Given the description of an element on the screen output the (x, y) to click on. 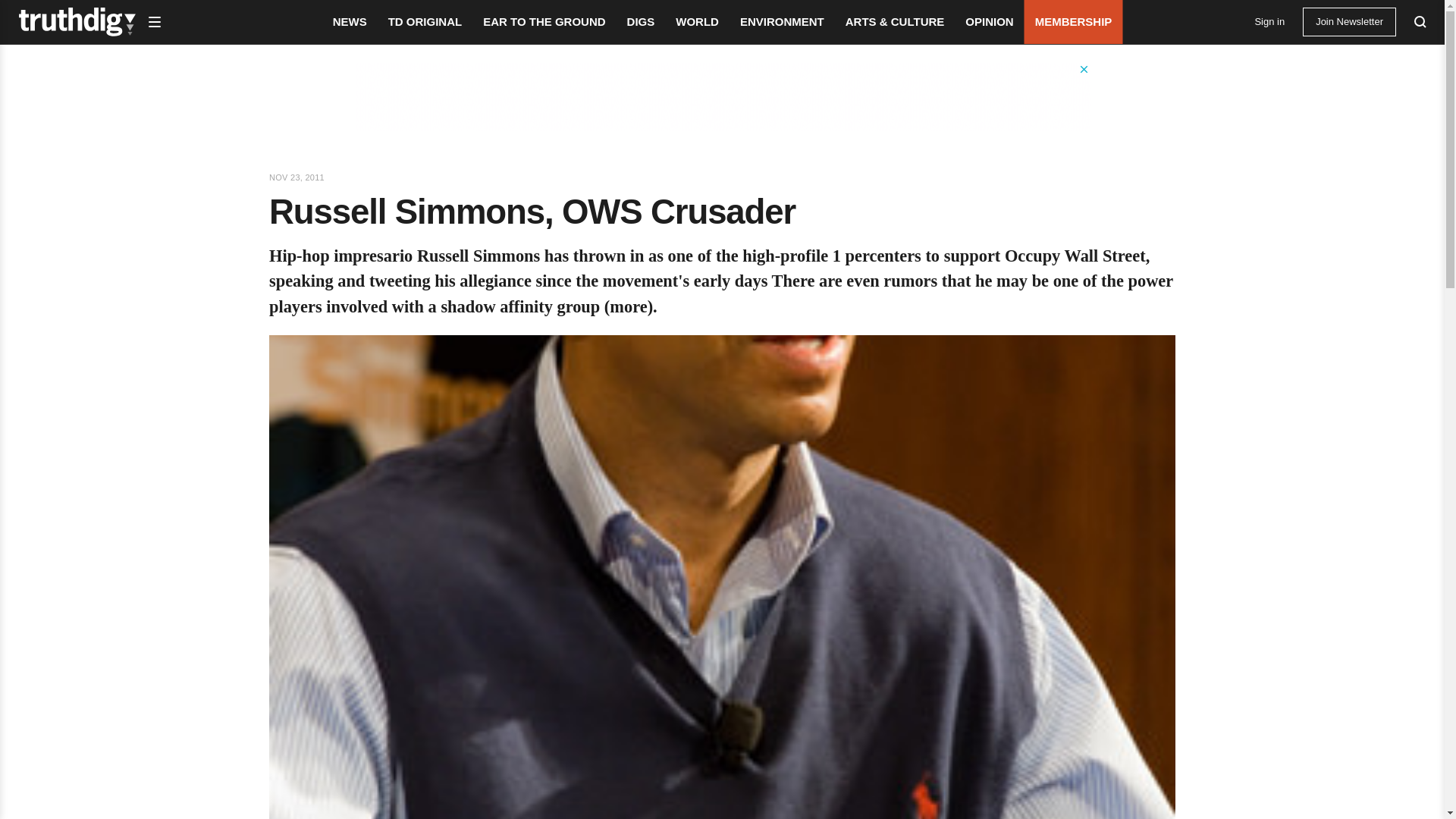
3rd party ad content (722, 97)
